Given the description of an element on the screen output the (x, y) to click on. 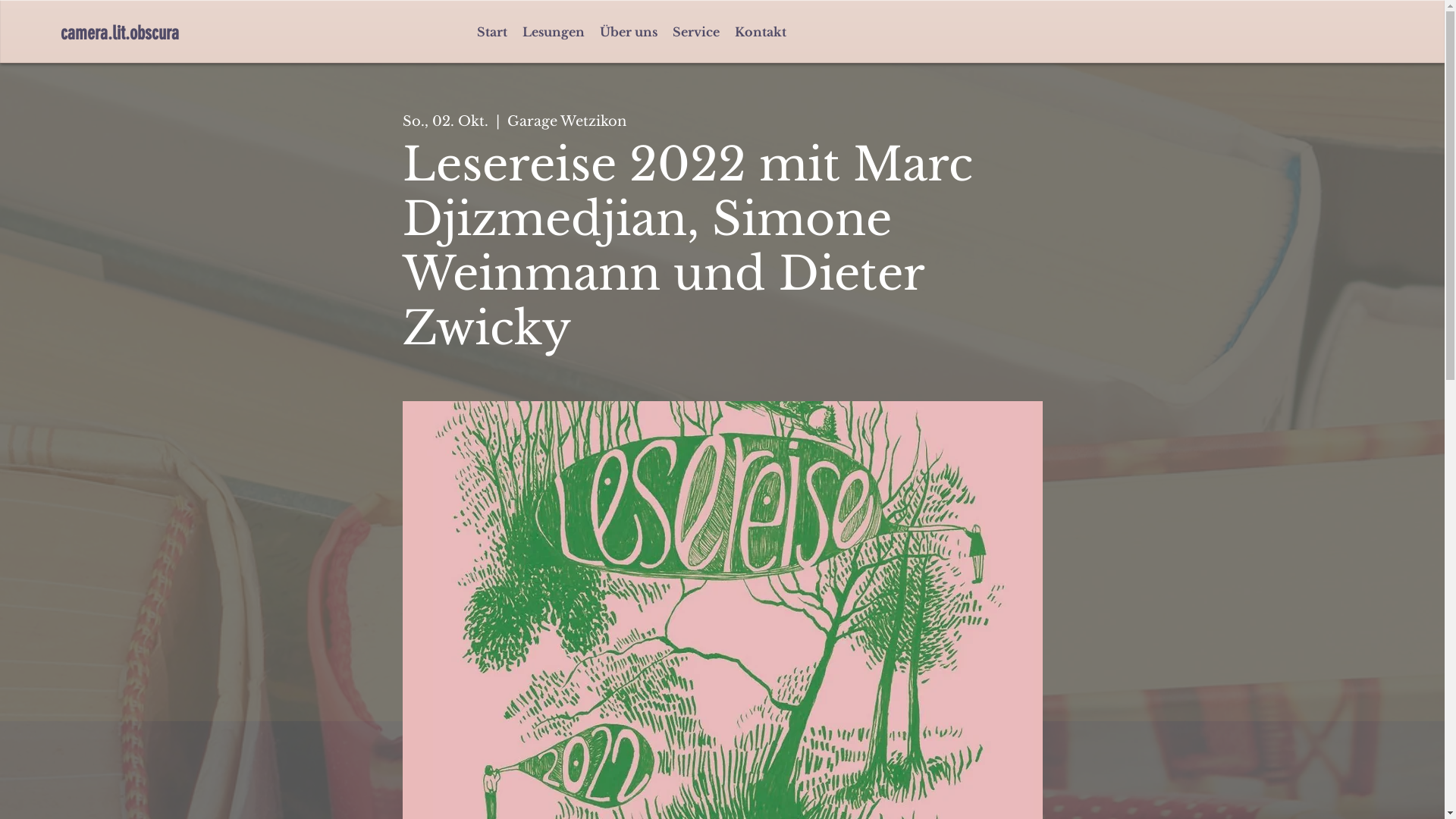
Start Element type: text (491, 31)
camera.lit.obscura Element type: text (144, 32)
Kontakt Element type: text (759, 31)
